Given the description of an element on the screen output the (x, y) to click on. 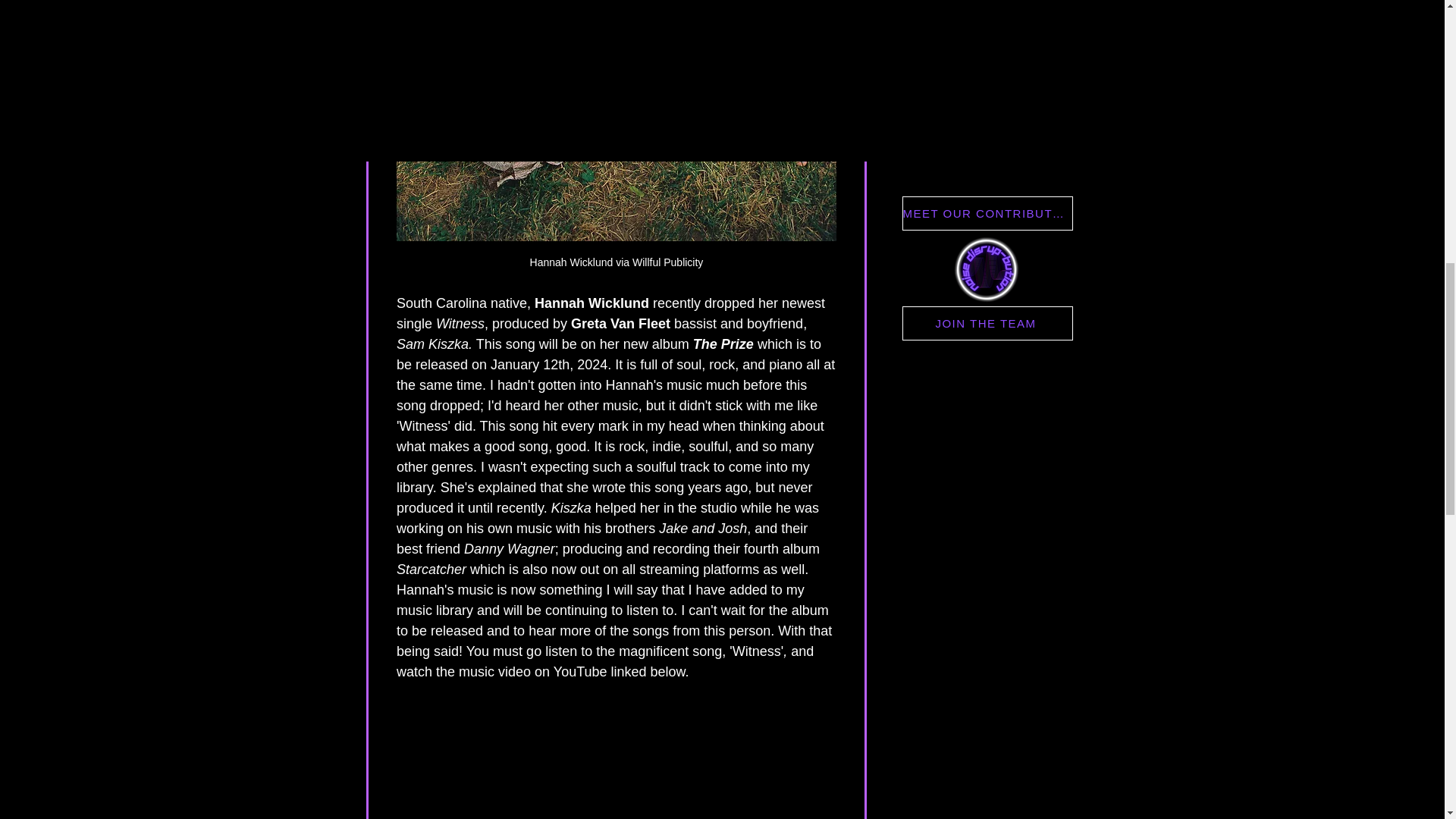
MEET OUR CONTRIBUTORS (987, 213)
